Given the description of an element on the screen output the (x, y) to click on. 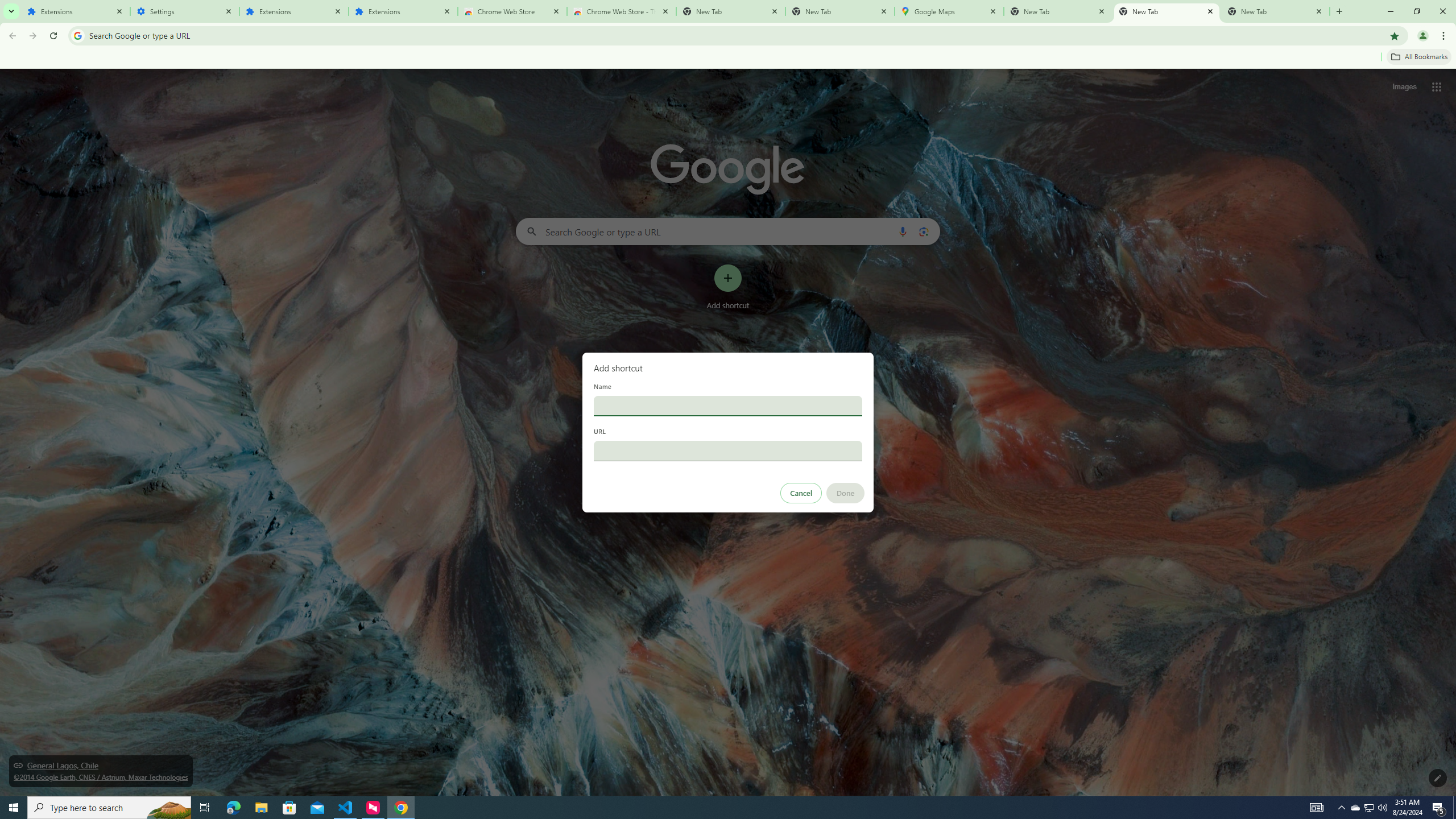
Chrome Web Store - Themes (621, 11)
Google Maps (949, 11)
New Tab (839, 11)
New Tab (1275, 11)
Done (845, 493)
